Given the description of an element on the screen output the (x, y) to click on. 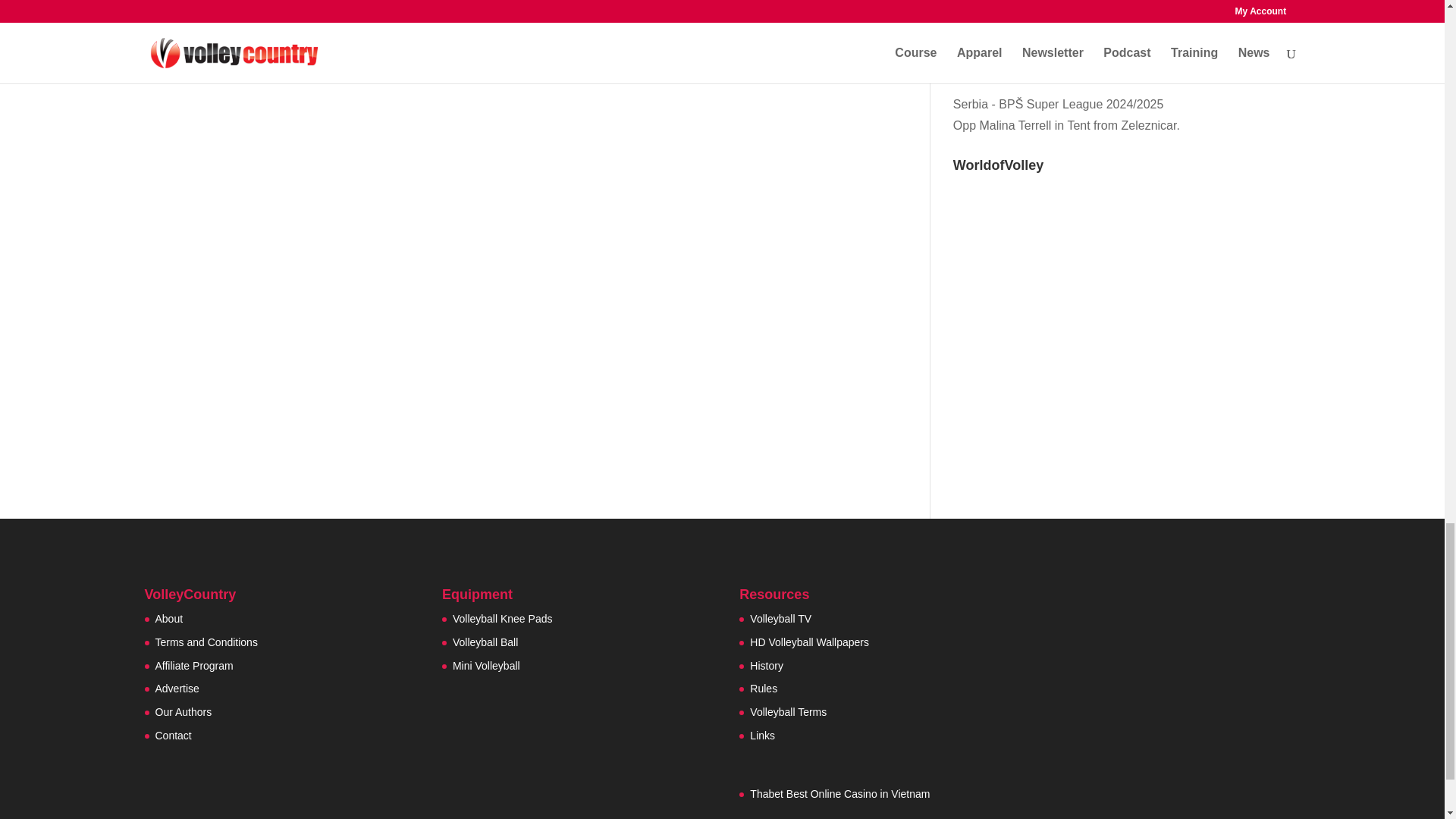
Rules (763, 688)
Volleyball Ball (485, 642)
Volleyball Terms (788, 711)
Thabet (766, 793)
Terms and Conditions (205, 642)
About (168, 618)
Links (761, 735)
Affiliate Program (193, 665)
Our Authors (182, 711)
HD Volleyball Wallpapers (809, 642)
